Given the description of an element on the screen output the (x, y) to click on. 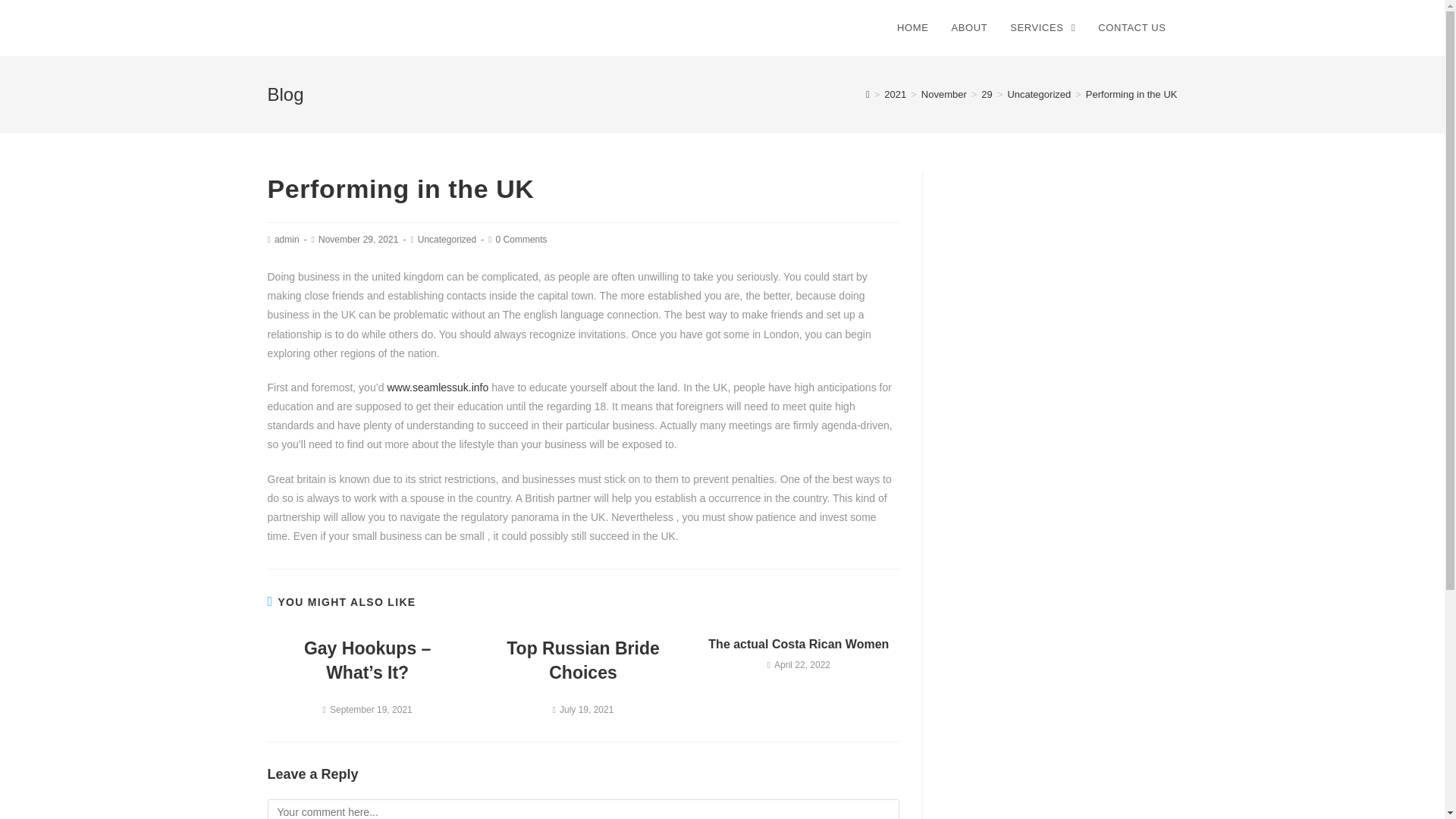
Posts by admin (287, 239)
ABOUT (969, 28)
Uncategorized (446, 239)
CONTACT US (1131, 28)
www.seamlessuk.info (437, 387)
2021 (894, 93)
November (943, 93)
The actual Costa Rican Women (798, 644)
SERVICES (1042, 28)
29 (986, 93)
Top Russian Bride Choices (583, 660)
Performing in the UK (1131, 93)
HOME (912, 28)
Top Russian Bride Choices (583, 660)
0 Comments (521, 239)
